Given the description of an element on the screen output the (x, y) to click on. 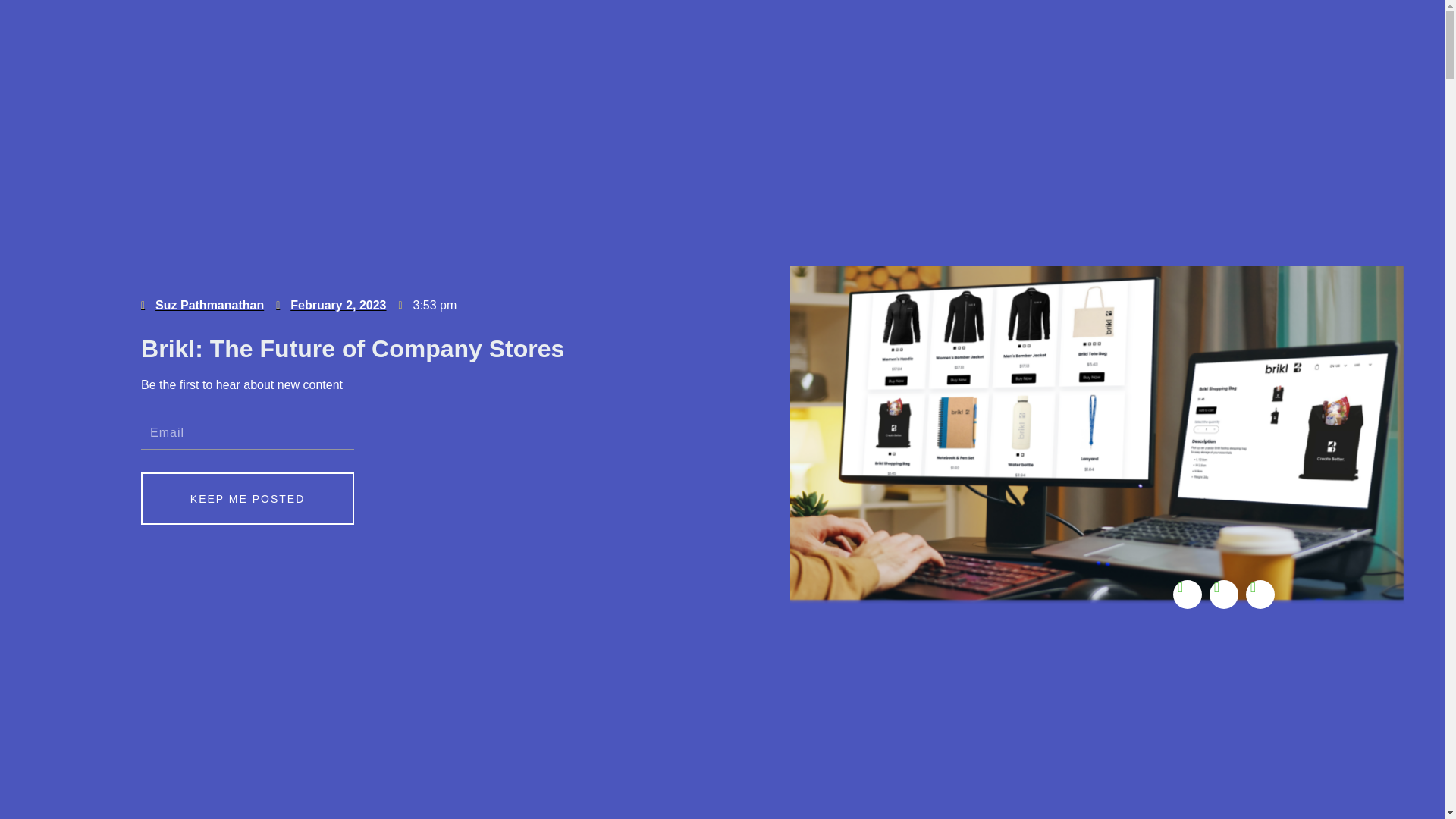
February 2, 2023 (330, 305)
Instagram (1260, 593)
Linkedin (1187, 593)
KEEP ME POSTED (247, 498)
Suz Pathmanathan (202, 305)
Youtube (1224, 593)
